Given the description of an element on the screen output the (x, y) to click on. 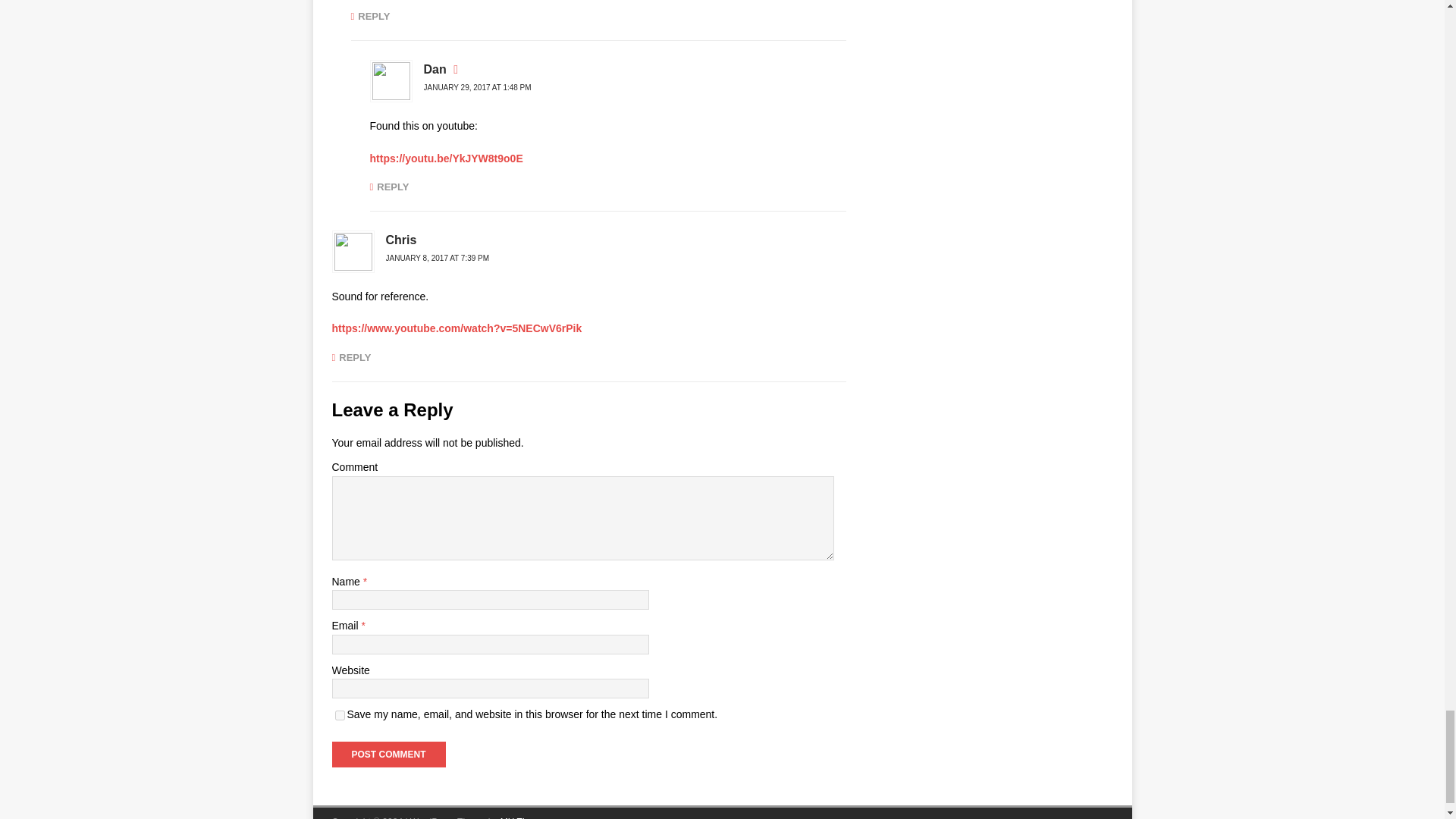
Post Comment (388, 754)
yes (339, 715)
